Given the description of an element on the screen output the (x, y) to click on. 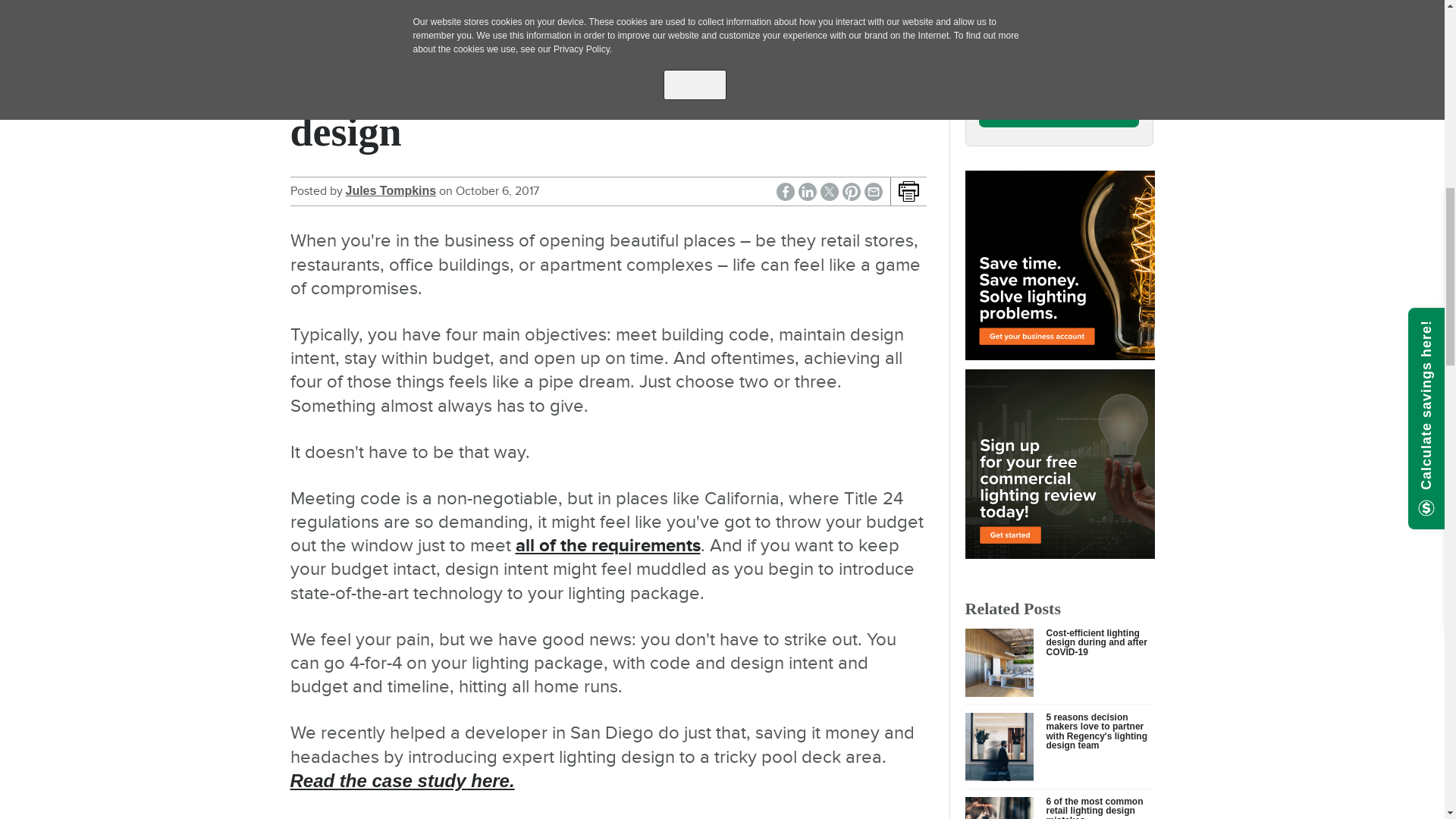
Print this page (908, 190)
